Given the description of an element on the screen output the (x, y) to click on. 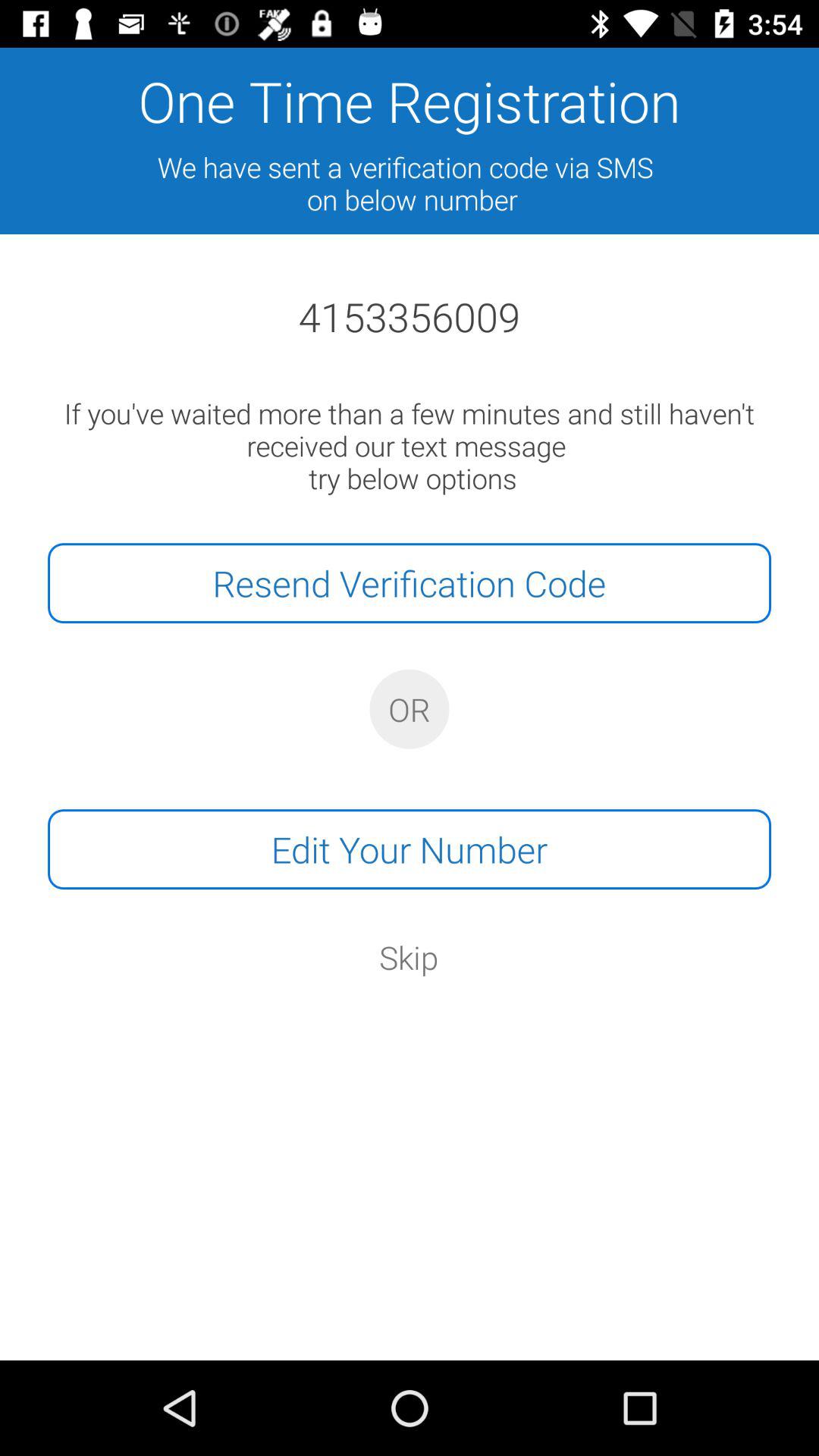
turn off edit your number item (409, 849)
